Given the description of an element on the screen output the (x, y) to click on. 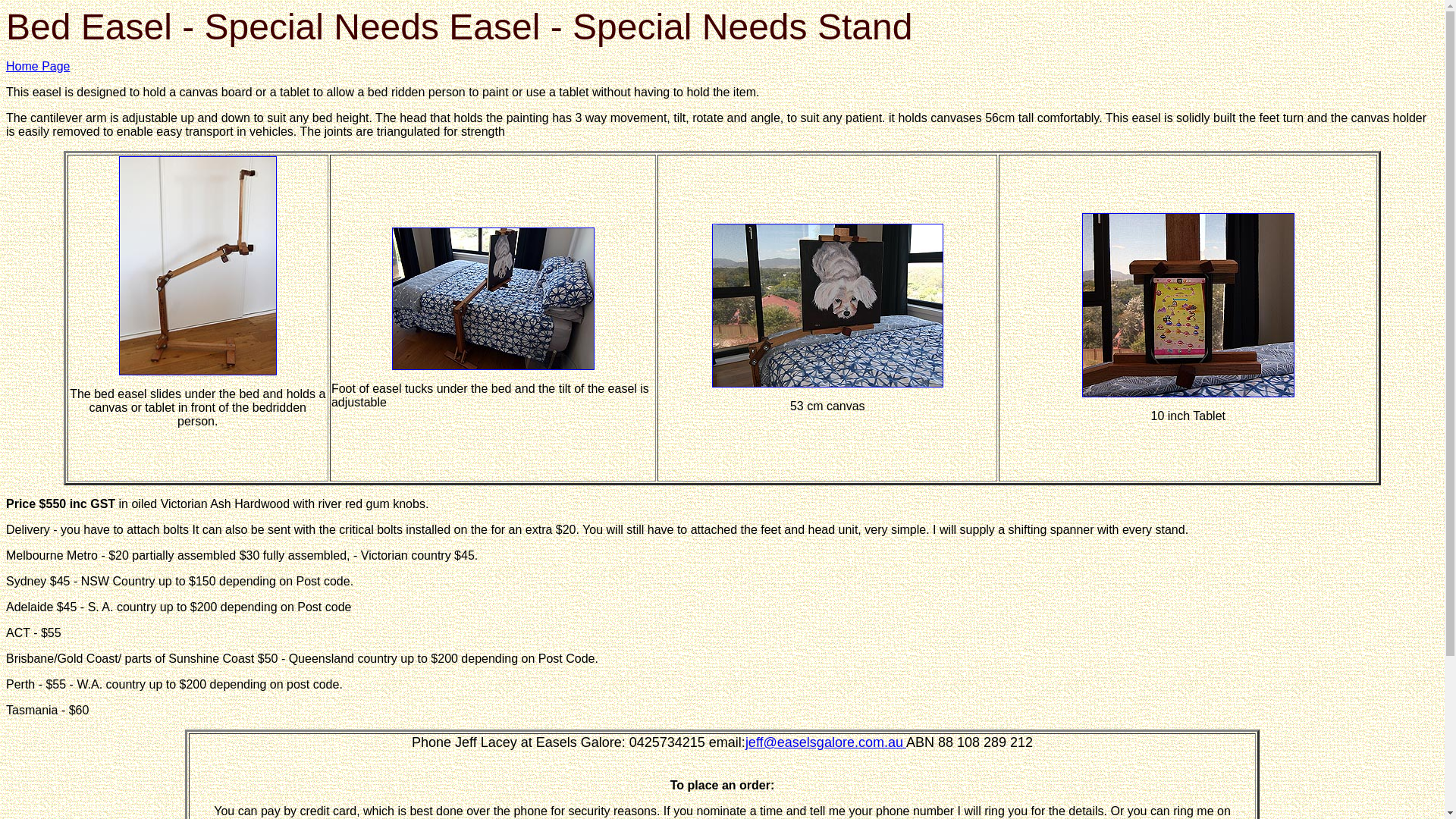
jeff@easelsgalore.com.au Element type: text (824, 741)
Home Page Element type: text (38, 65)
